Given the description of an element on the screen output the (x, y) to click on. 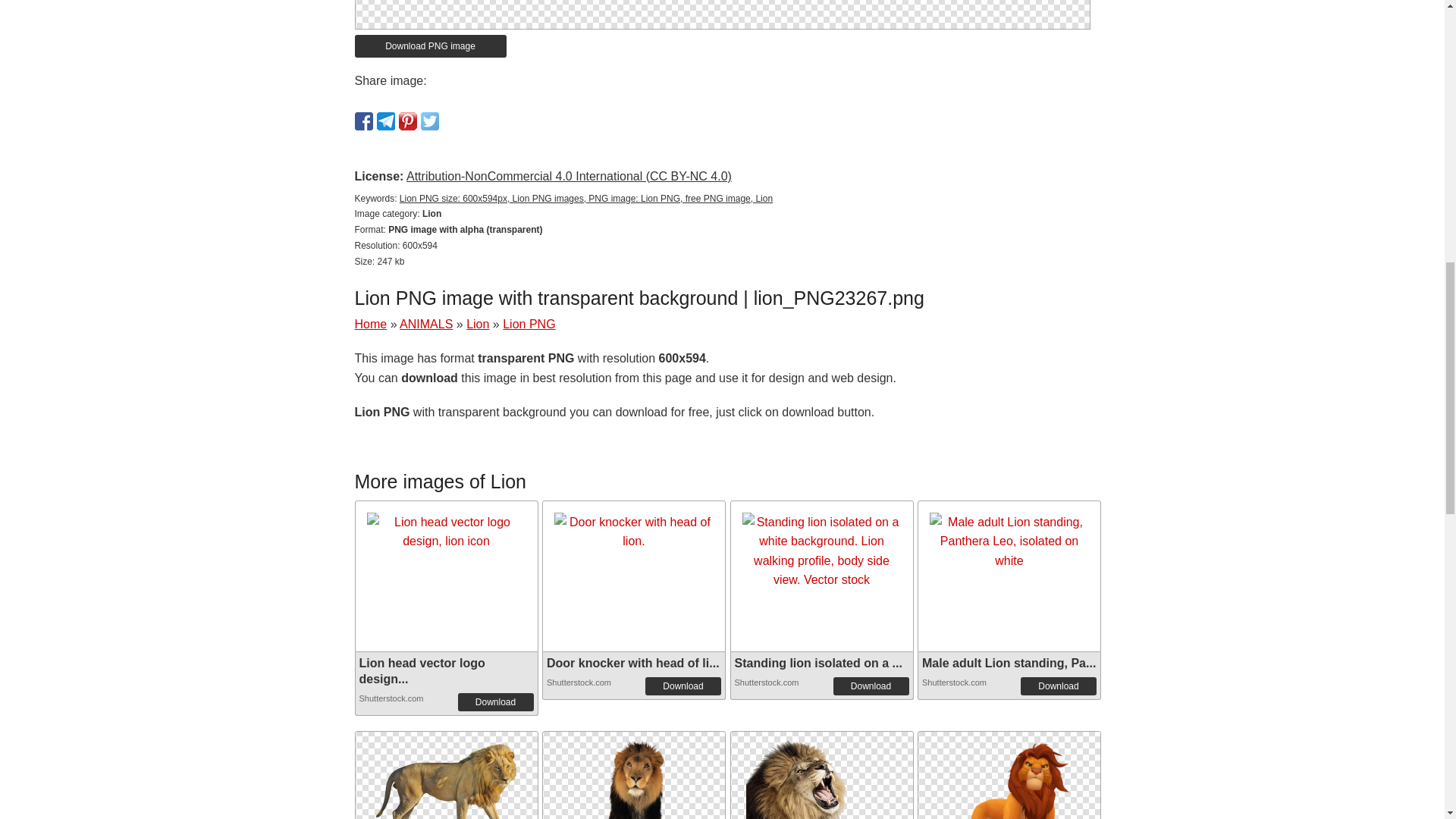
Pin (407, 121)
Lion PNG (821, 775)
ANIMALS (425, 323)
Lion PNG (445, 784)
Download (496, 701)
Download (1058, 686)
Door knocker with head of lion. (633, 531)
Lion head vector logo design... (421, 670)
Door knocker with head of li... (633, 662)
Home (371, 323)
Download PNG image (430, 46)
Standing lion isolated on a ... (817, 662)
Download (870, 686)
Tweet (429, 121)
